Given the description of an element on the screen output the (x, y) to click on. 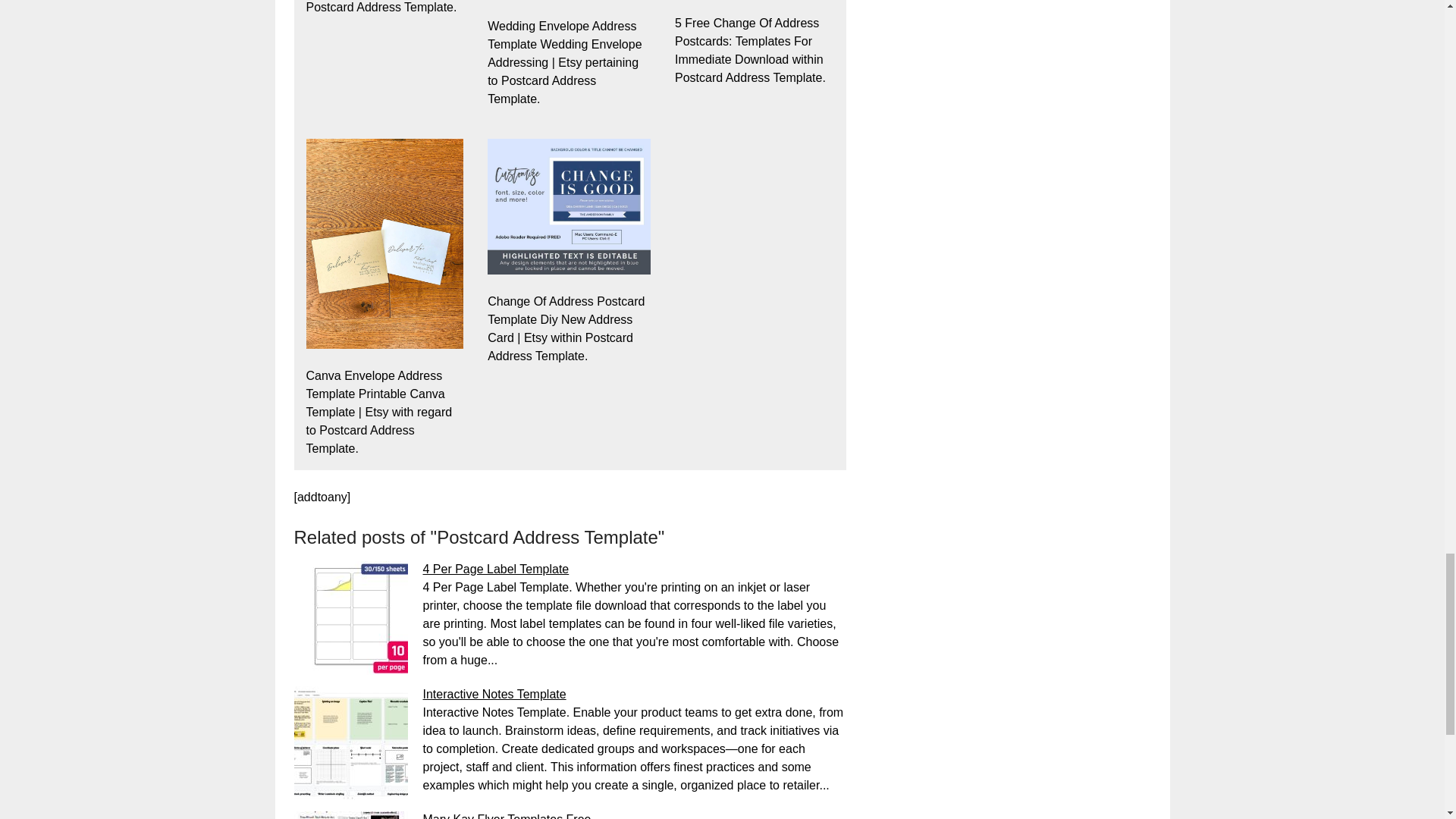
Interactive Notes Template (494, 694)
4 Per Page Label Template (496, 568)
Mary Kay Flyer Templates Free (507, 816)
